Given the description of an element on the screen output the (x, y) to click on. 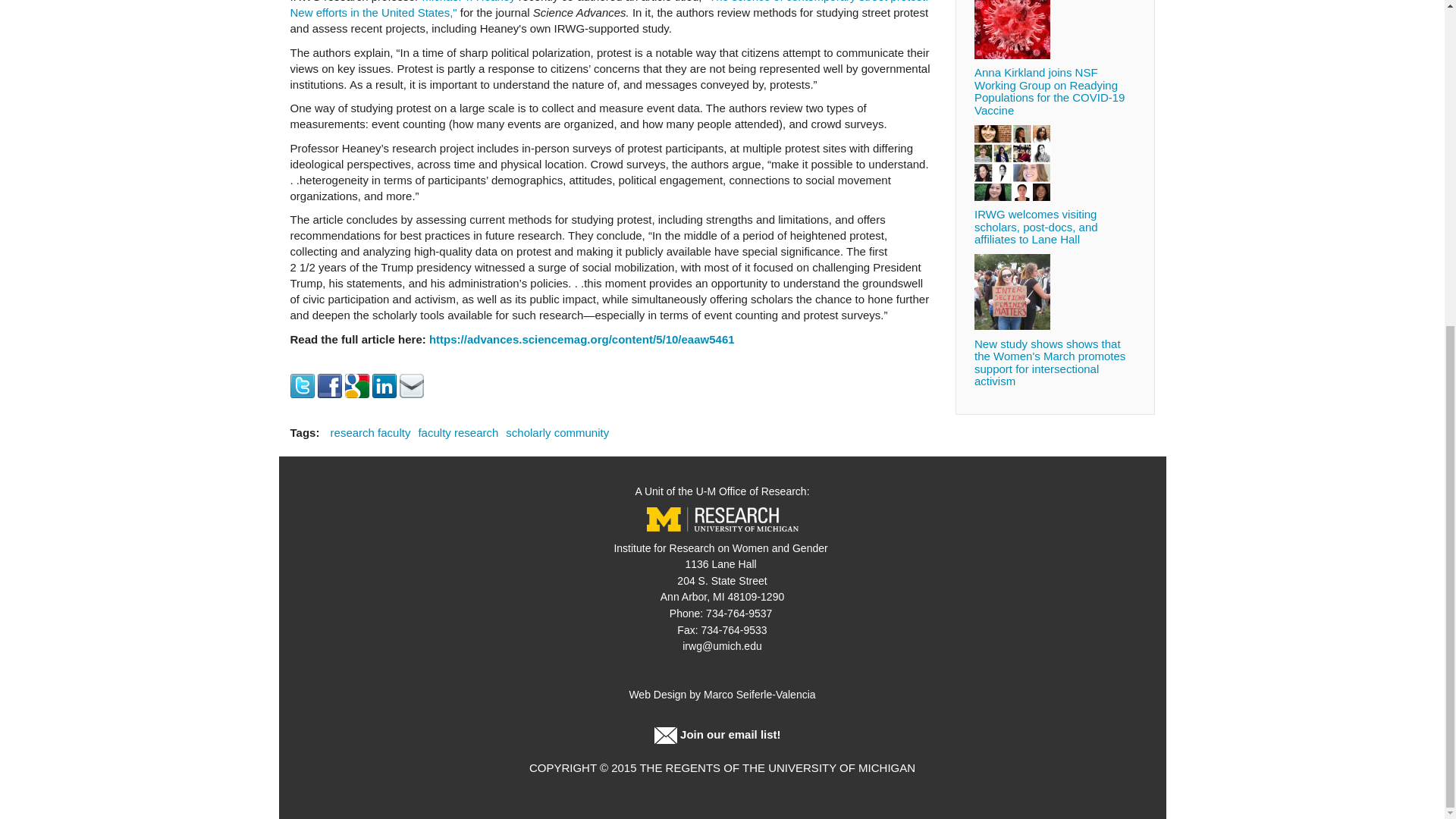
Bookmark on Google (357, 384)
Michael T. Heaney (468, 1)
research faculty (370, 431)
Tweet this (301, 384)
scholarly community (556, 431)
faculty research (457, 431)
Share on LinkedIn (384, 384)
